Given the description of an element on the screen output the (x, y) to click on. 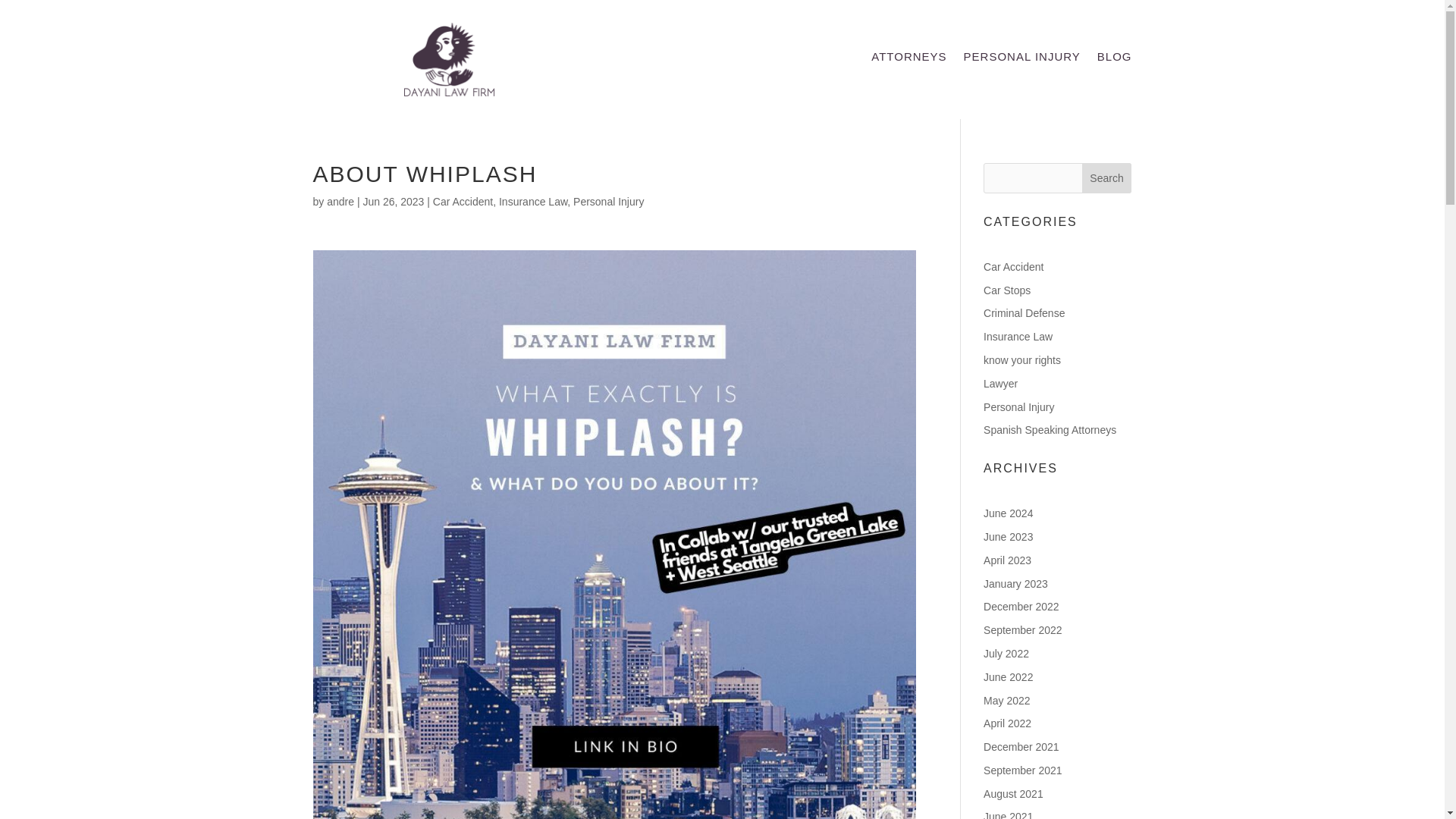
Insurance Law (1018, 336)
Search (1106, 177)
Car Accident (462, 201)
Insurance Law (533, 201)
Lawyer (1000, 383)
December 2022 (1021, 606)
know your rights (1022, 359)
ATTORNEYS (908, 59)
Car Stops (1007, 290)
Criminal Defense (1024, 313)
January 2023 (1016, 583)
June 2024 (1008, 512)
PERSONAL INJURY (1021, 59)
Posts by andre (339, 201)
Spanish Speaking Attorneys (1050, 429)
